Given the description of an element on the screen output the (x, y) to click on. 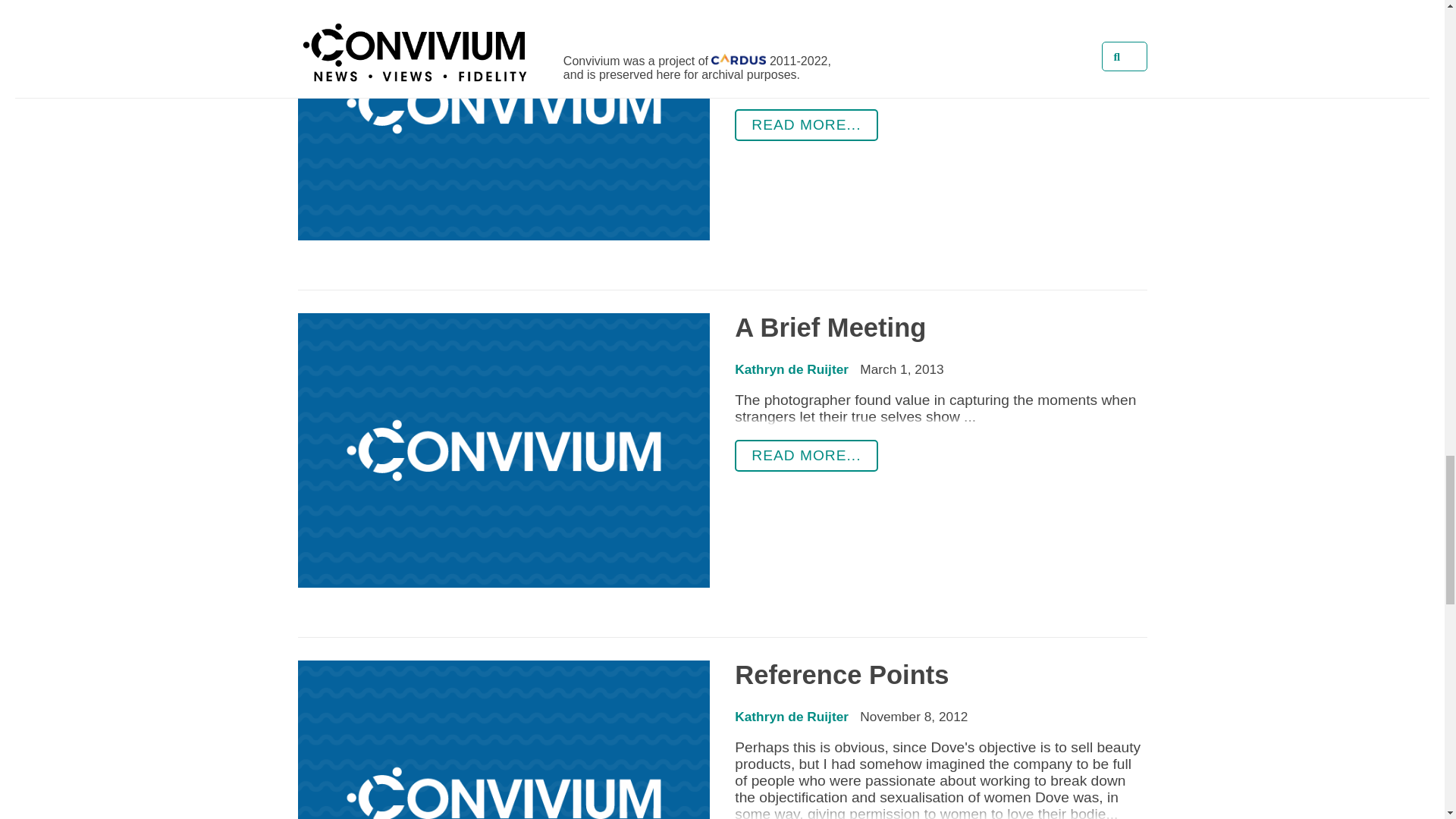
Reference Points (842, 674)
READ MORE... (806, 455)
READ MORE... (806, 124)
A Brief Meeting (830, 327)
Kathryn de Ruijter (791, 716)
Kathryn de Ruijter (791, 368)
Kathryn de Ruijter (791, 20)
